Given the description of an element on the screen output the (x, y) to click on. 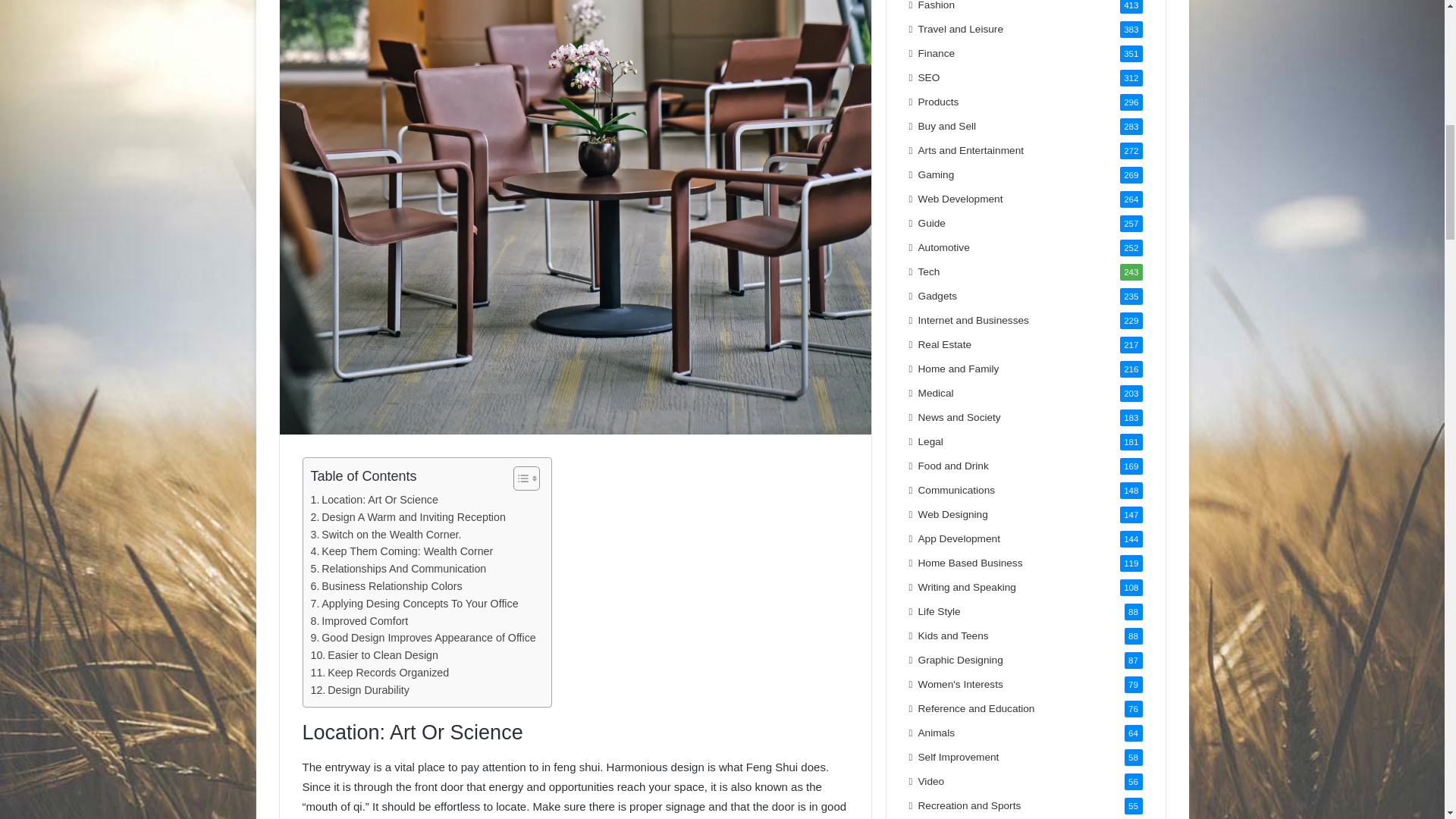
Keep Them Coming: Wealth Corner (402, 551)
Easier to Clean Design (374, 655)
Business Relationship Colors (387, 586)
Relationships And Communication (398, 569)
Location: Art Or Science (374, 499)
Keep Records Organized (380, 672)
Easier to Clean Design (374, 655)
Switch on the Wealth Corner. (386, 534)
Design A Warm and Inviting Reception (408, 517)
Good Design Improves Appearance of Office (423, 638)
Good Design Improves Appearance of Office (423, 638)
Design A Warm and Inviting Reception (408, 517)
Keep Them Coming: Wealth Corner (402, 551)
Relationships And Communication (398, 569)
Improved Comfort (360, 620)
